Given the description of an element on the screen output the (x, y) to click on. 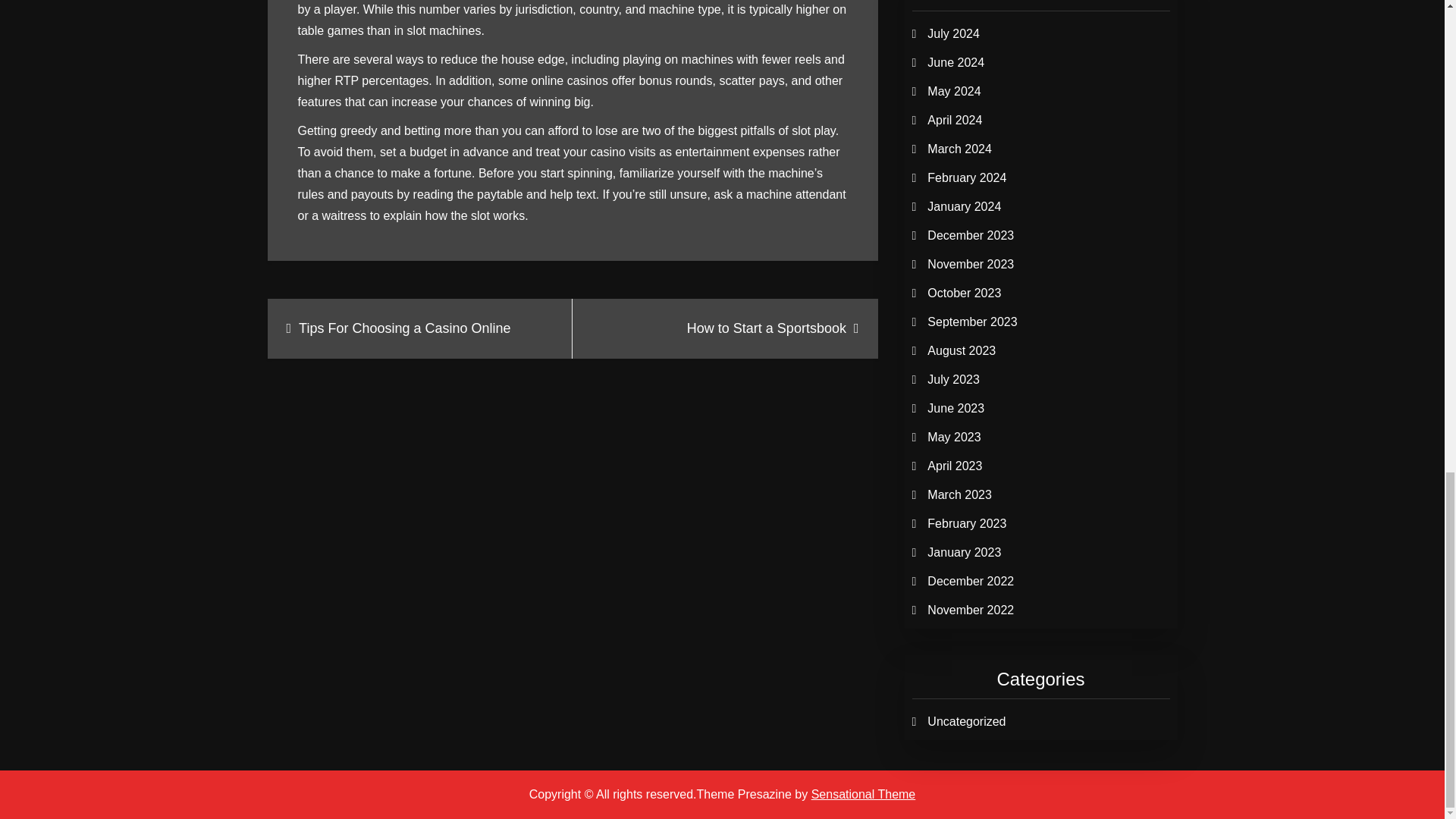
February 2023 (966, 522)
November 2023 (970, 264)
July 2024 (953, 33)
February 2024 (966, 177)
March 2024 (959, 148)
April 2023 (954, 465)
How to Start a Sportsbook (724, 328)
October 2023 (964, 292)
May 2024 (953, 91)
Tips For Choosing a Casino Online (419, 328)
April 2024 (954, 119)
June 2023 (955, 408)
May 2023 (953, 436)
June 2024 (955, 62)
December 2023 (970, 235)
